Given the description of an element on the screen output the (x, y) to click on. 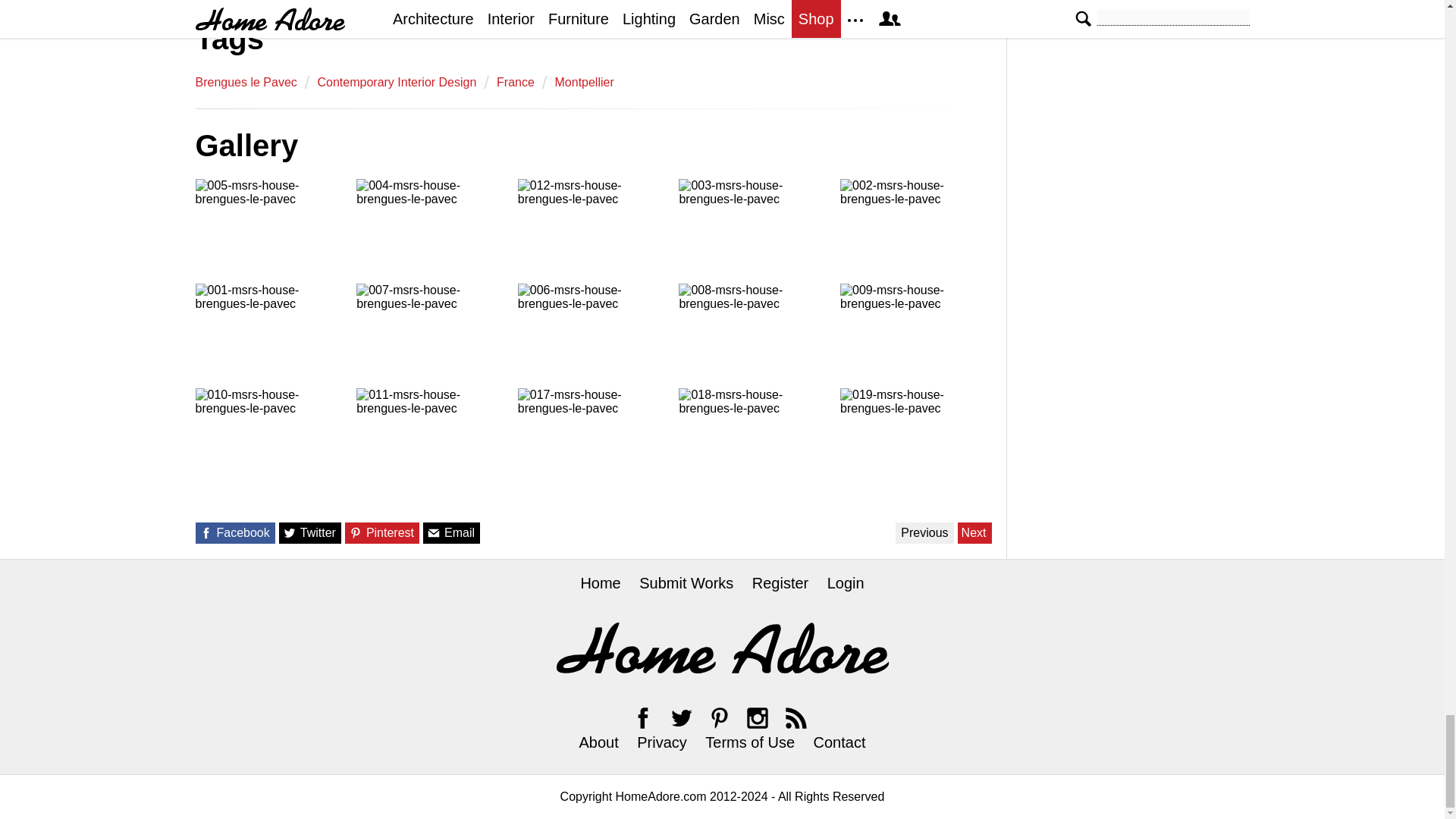
france (515, 82)
Share on Twitter (289, 532)
Montpellier (584, 82)
Twitter (681, 718)
Contemporary Interior Design (396, 82)
HomeAdore (722, 648)
Share on Pinterest (355, 532)
Brengues le Pavec (246, 82)
Facebook (643, 718)
Share with a Friend (433, 532)
